Given the description of an element on the screen output the (x, y) to click on. 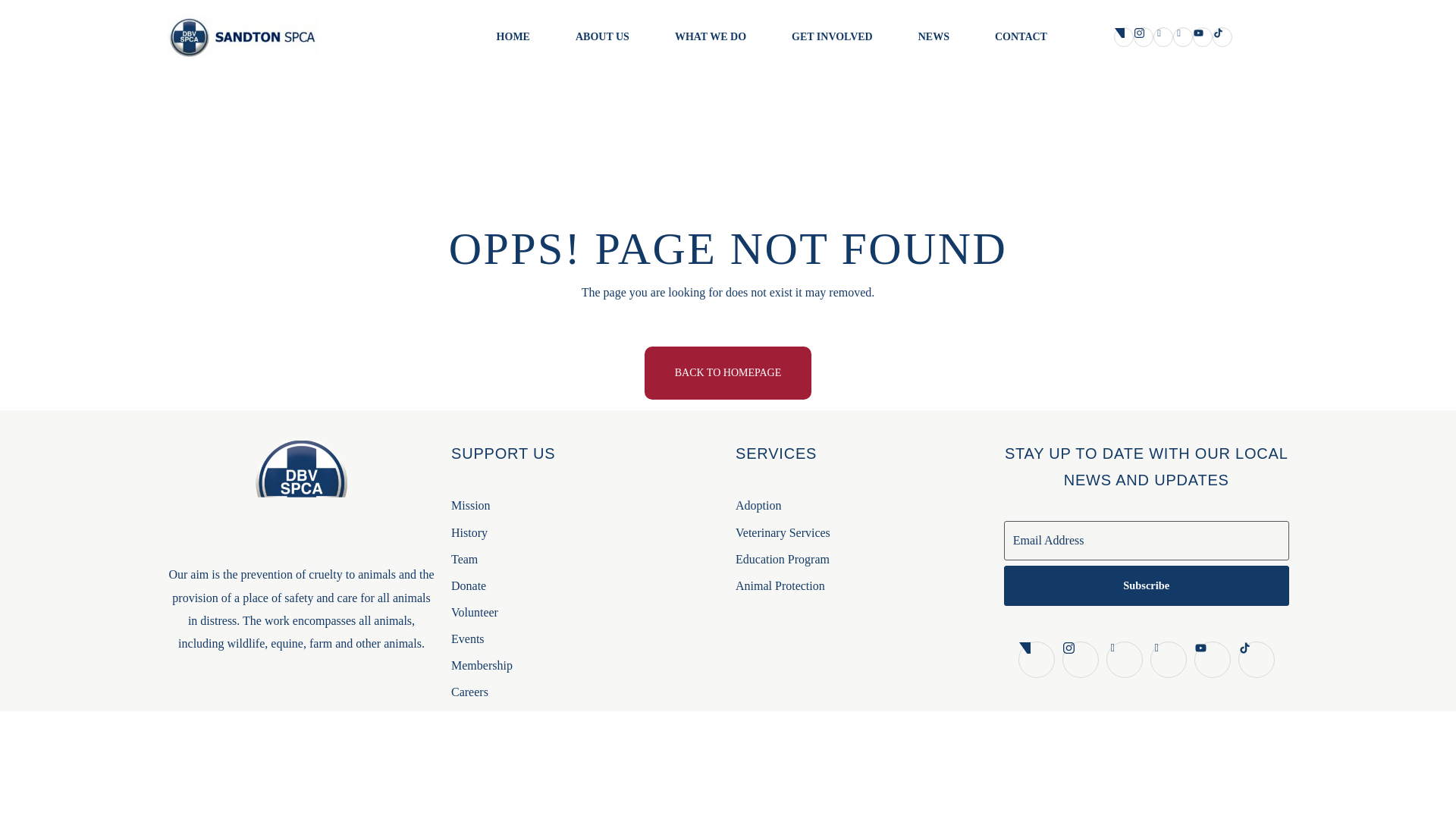
GET INVOLVED (832, 36)
NEWS (933, 36)
WHAT WE DO (710, 36)
ABOUT US (601, 36)
CONTACT (1020, 36)
HOME (512, 36)
